Given the description of an element on the screen output the (x, y) to click on. 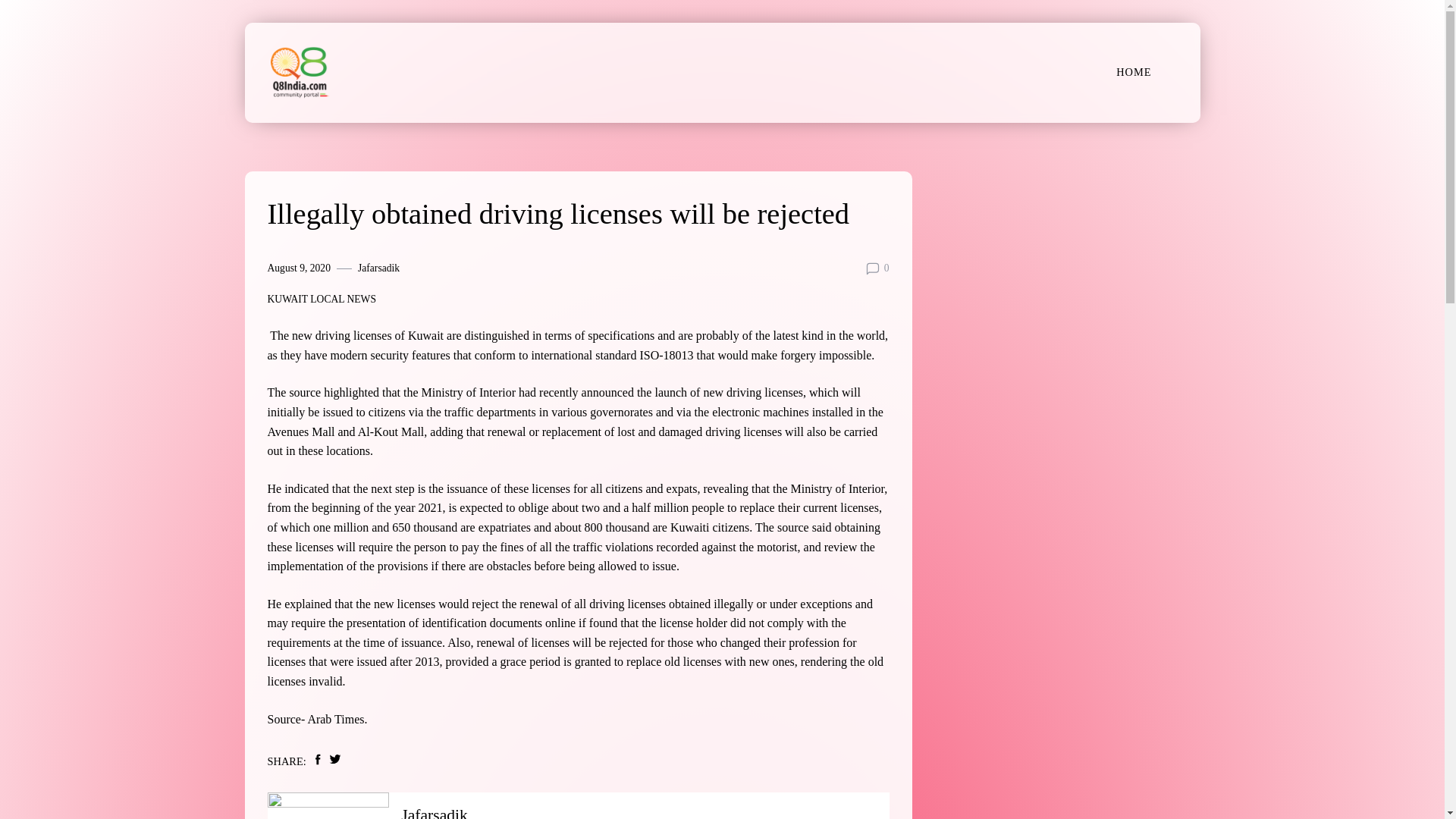
HOME (1133, 71)
KUWAIT LOCAL NEWS (320, 299)
August 9, 2020 (298, 268)
Jafarsadik (434, 812)
Jafarsadik (378, 268)
